Given the description of an element on the screen output the (x, y) to click on. 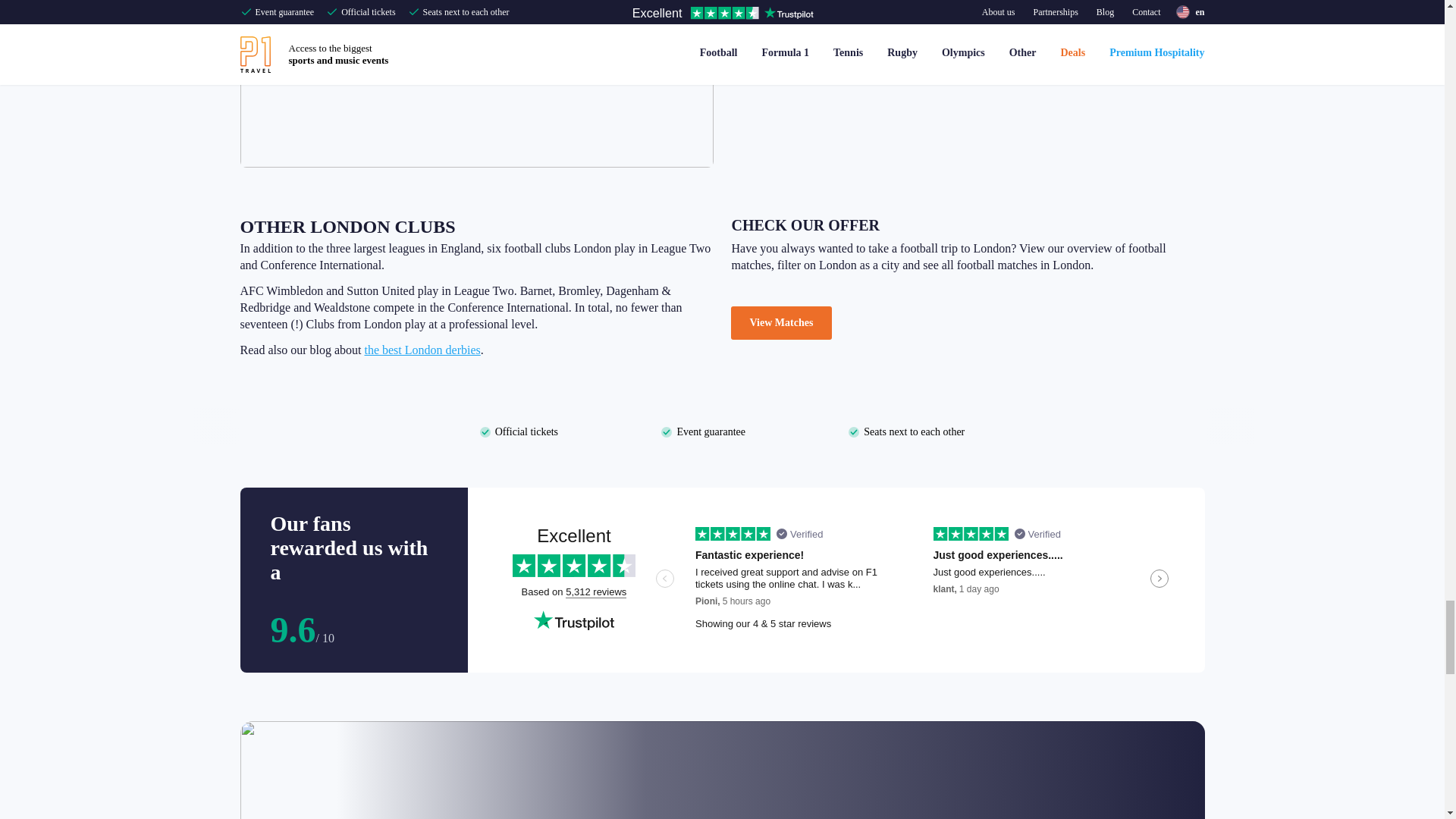
Customer reviews powered by Trustpilot (835, 580)
